Given the description of an element on the screen output the (x, y) to click on. 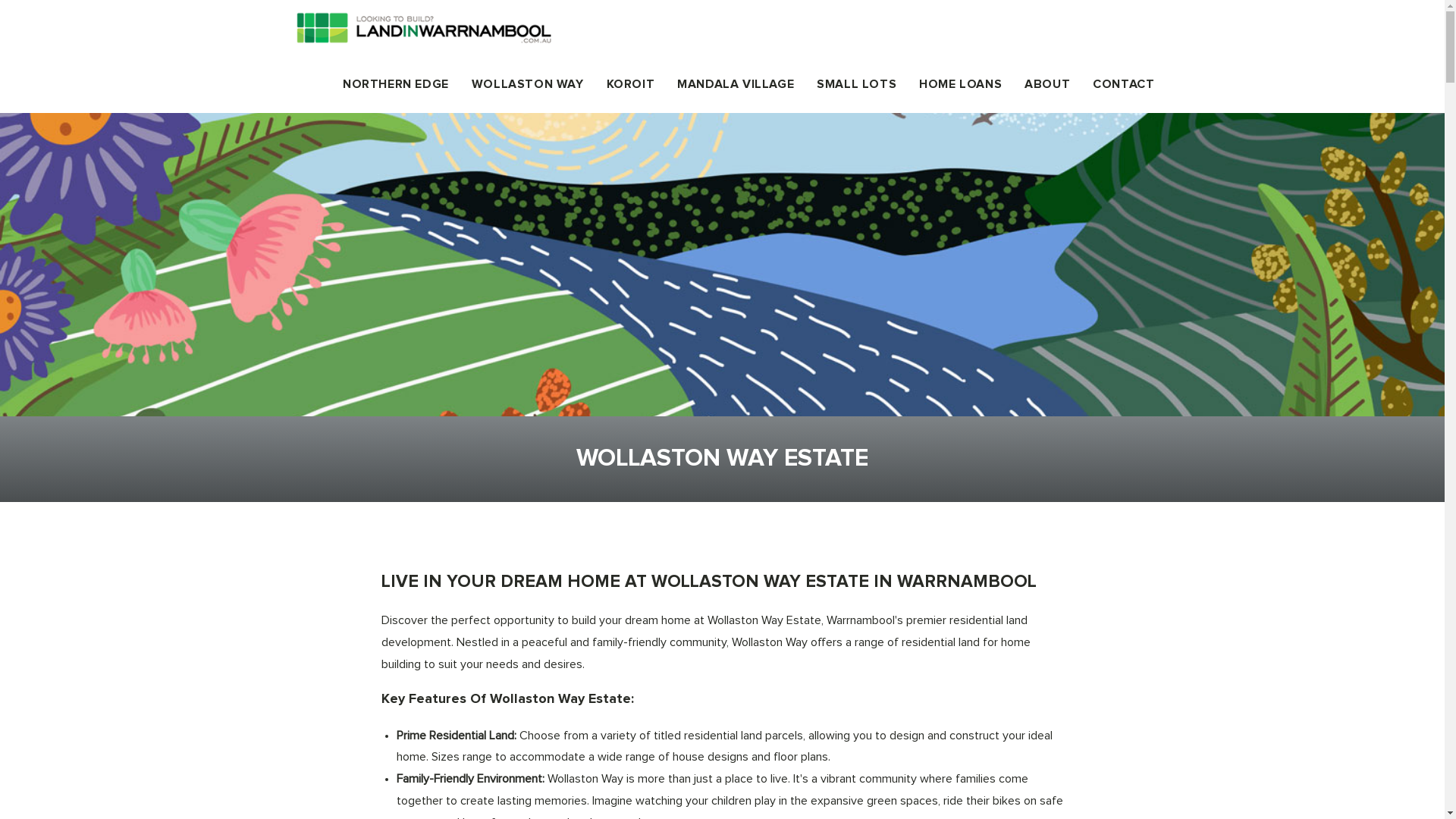
ABOUT Element type: text (1047, 84)
SMALL LOTS Element type: text (856, 84)
NORTHERN EDGE Element type: text (395, 84)
WOLLASTON WAY Element type: text (527, 84)
MANDALA VILLAGE Element type: text (735, 84)
HOME LOANS Element type: text (960, 84)
CONTACT Element type: text (1123, 84)
KOROIT Element type: text (630, 84)
